Given the description of an element on the screen output the (x, y) to click on. 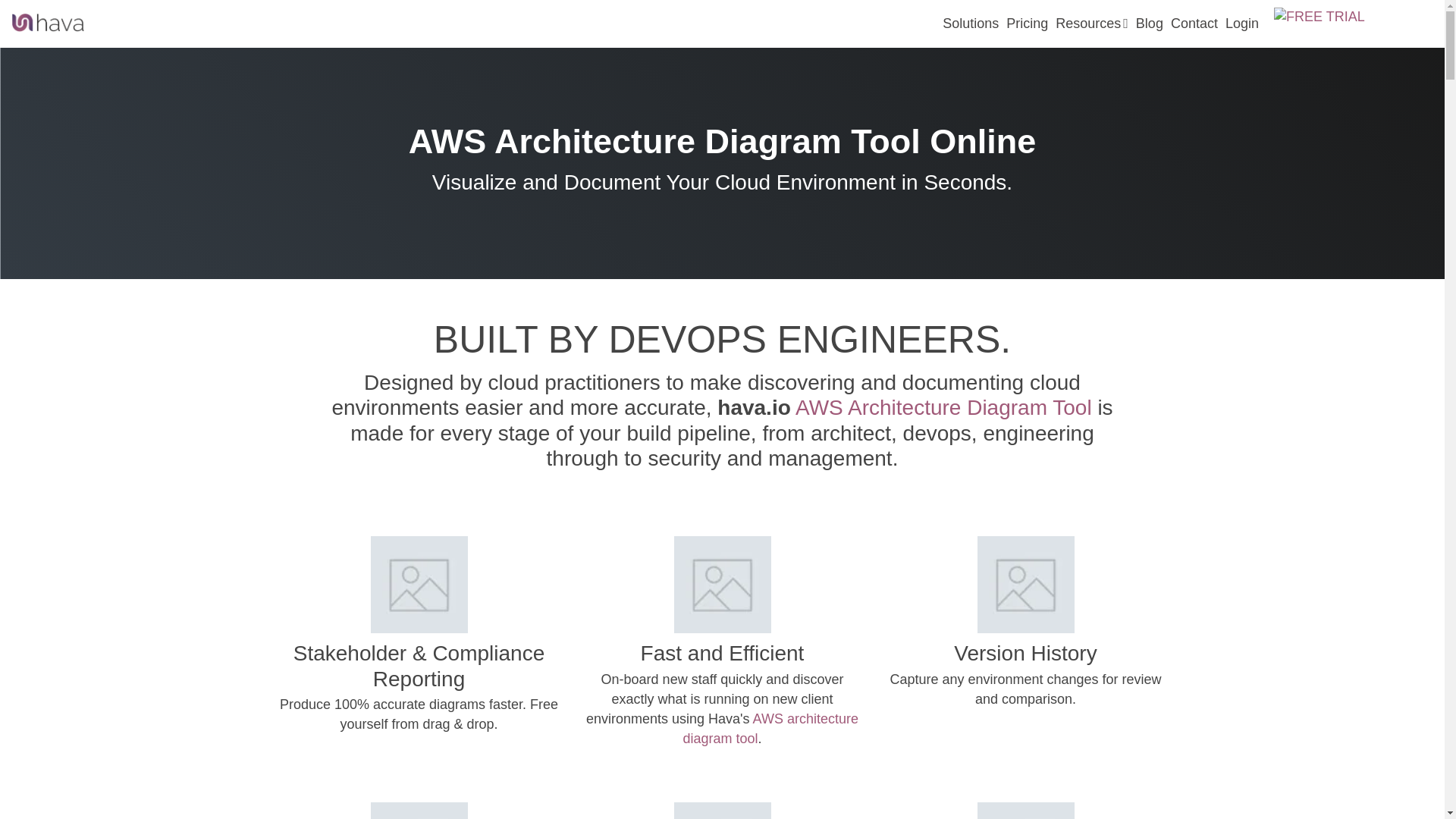
Resources (1091, 23)
Pricing (1027, 23)
Blog (1149, 23)
Login (1241, 23)
Contact (1194, 23)
AWS architecture diagram tool (770, 728)
AWS Architecture Diagram Tool (943, 407)
Solutions (971, 23)
